Given the description of an element on the screen output the (x, y) to click on. 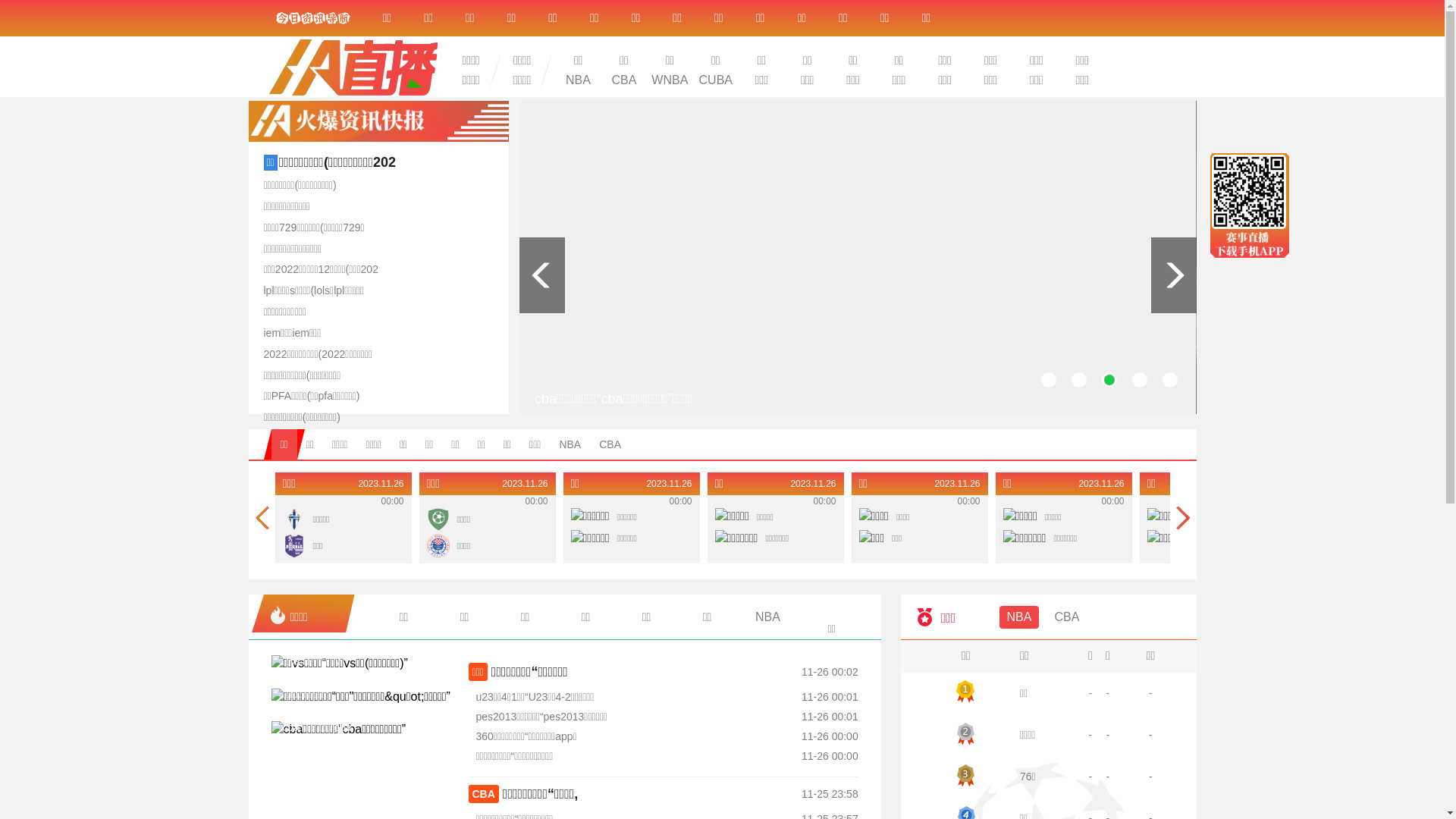
NBA Element type: text (569, 444)
CBA Element type: text (623, 80)
NBA Element type: text (767, 616)
CUBA Element type: text (715, 80)
WNBA Element type: text (669, 80)
NBA Element type: text (1019, 616)
CBA Element type: text (1066, 616)
NBA Element type: text (577, 80)
CBA Element type: text (609, 444)
